Given the description of an element on the screen output the (x, y) to click on. 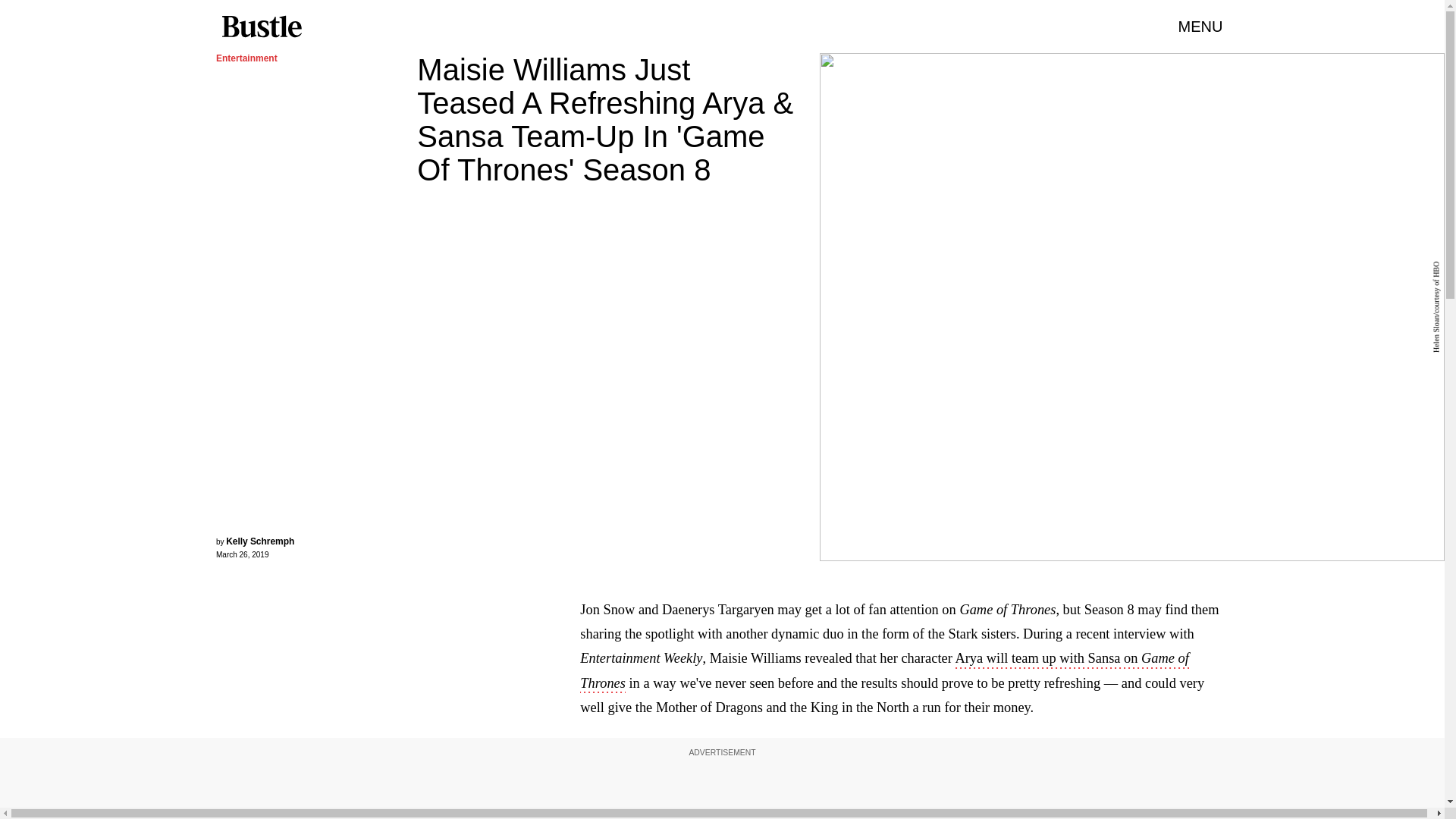
Kelly Schremph (259, 541)
Bustle (261, 26)
Arya will team up with Sansa on Game of Thrones (884, 671)
